Given the description of an element on the screen output the (x, y) to click on. 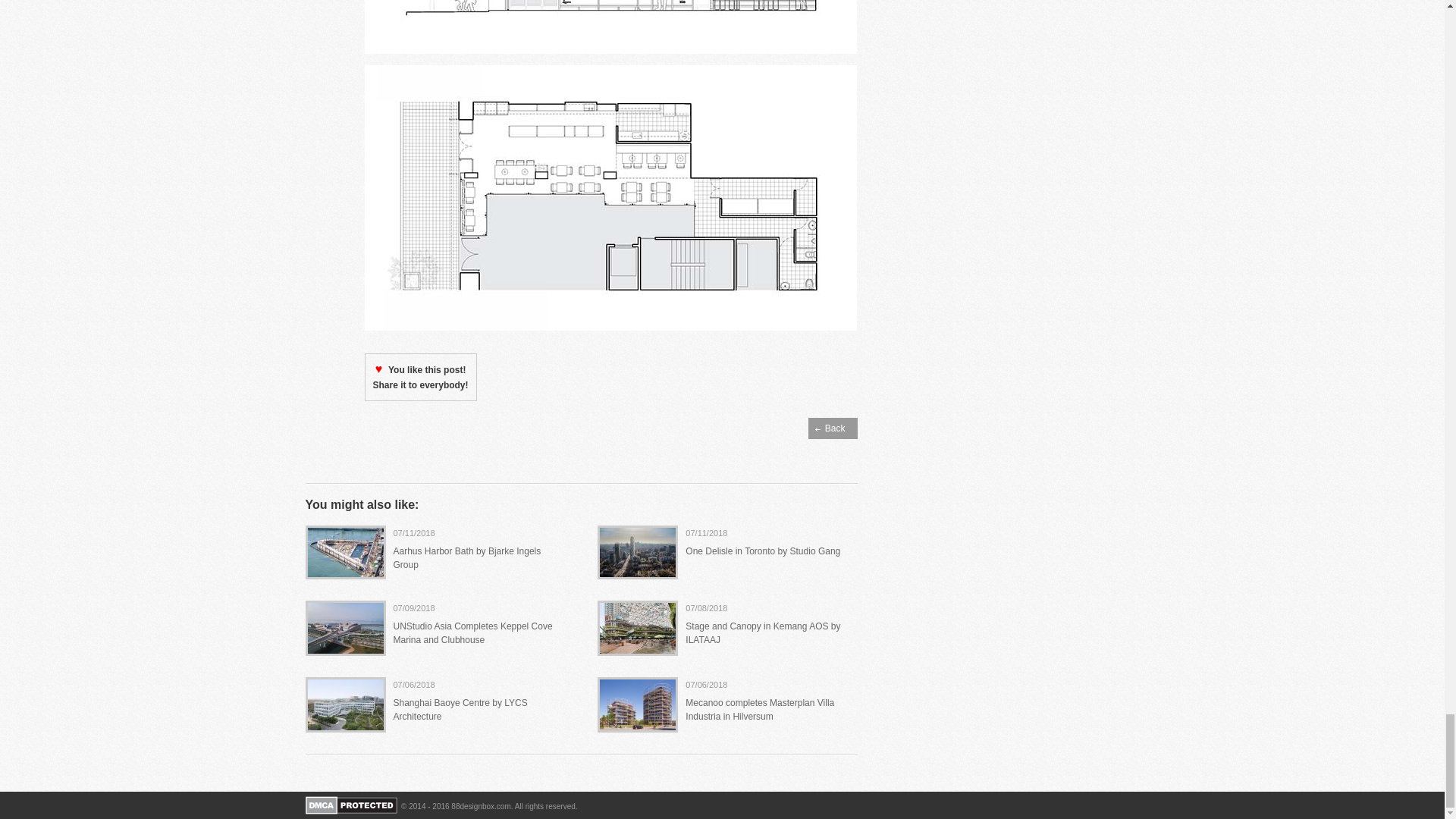
UNStudio Asia Completes Keppel Cove Marina and Clubhouse (472, 632)
Back (832, 427)
Shanghai Baoye Centre by LYCS Architecture (460, 709)
Aarhus Harbor Bath by Bjarke Ingels Group (466, 558)
One Delisle in Toronto by Studio Gang (762, 551)
Stage and Canopy in Kemang AOS by ILATAAJ (762, 632)
